Given the description of an element on the screen output the (x, y) to click on. 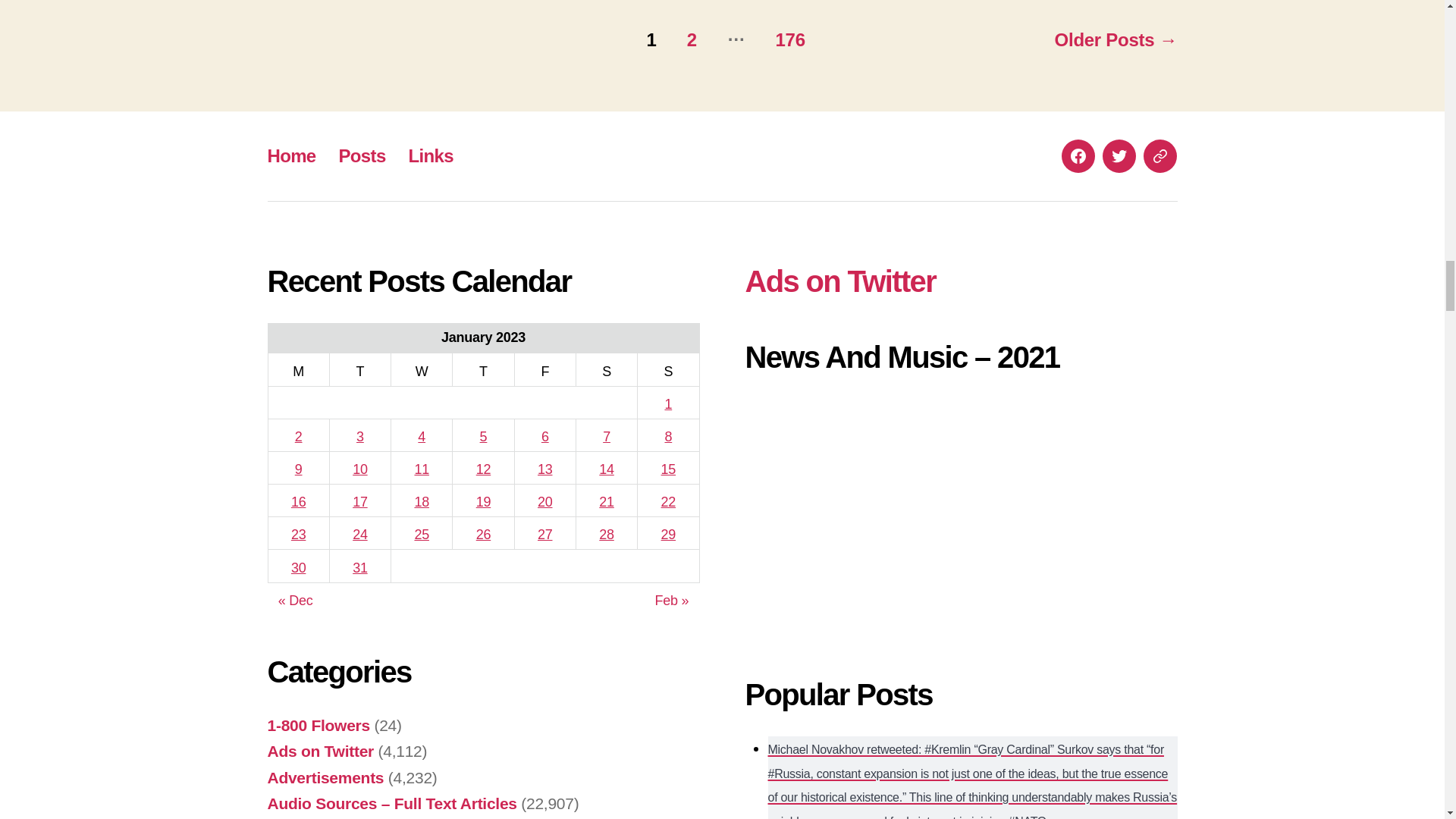
Facebook (1077, 155)
Tuesday (359, 368)
Monday (298, 368)
Posts (362, 155)
Saturday (606, 368)
Links (430, 155)
Friday (544, 368)
Thursday (482, 368)
Twitter (1118, 155)
176 (789, 39)
